Given the description of an element on the screen output the (x, y) to click on. 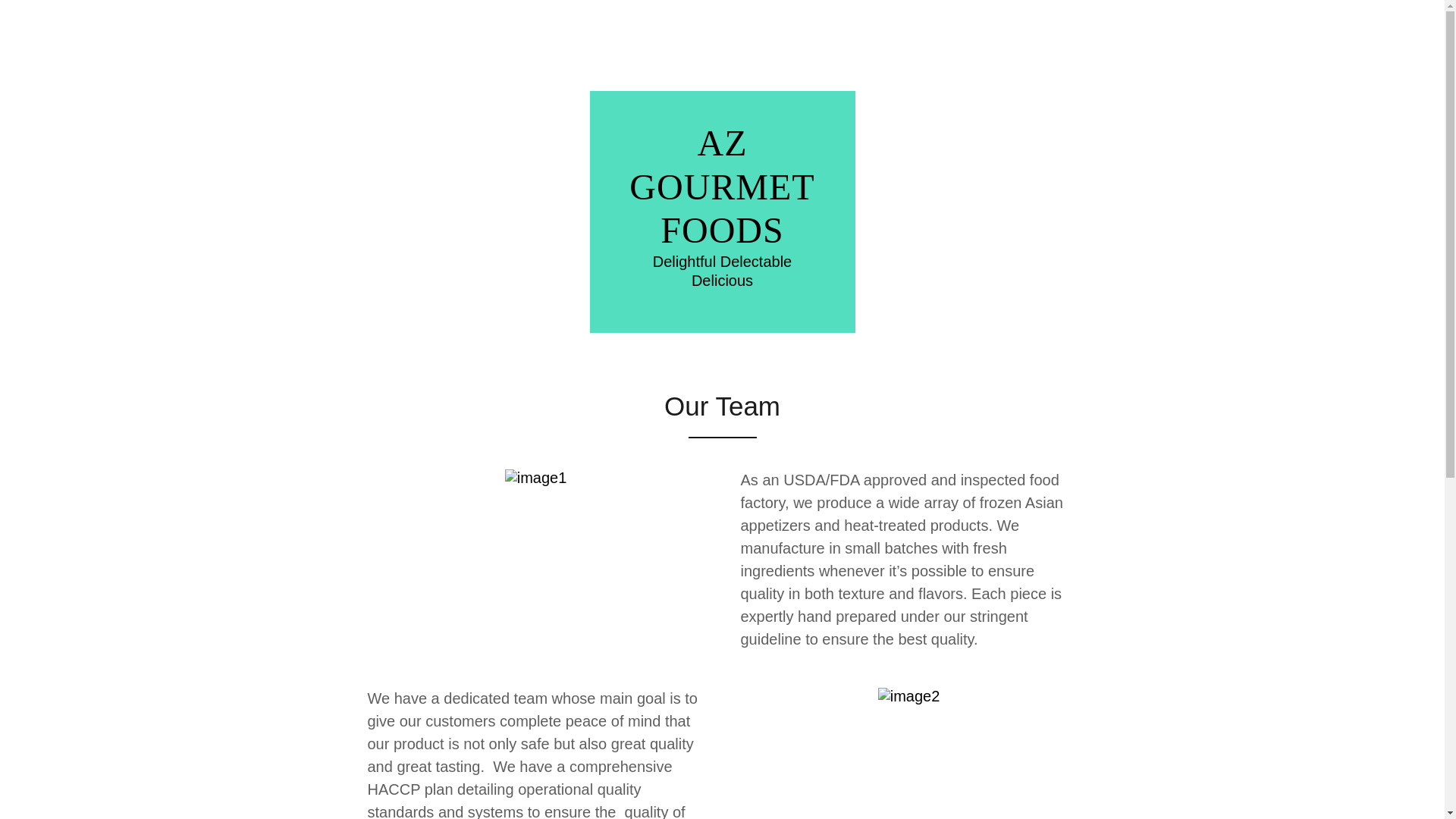
AZ GOURMET FOODS (722, 186)
AZ Gourmet Foods  (722, 186)
